Given the description of an element on the screen output the (x, y) to click on. 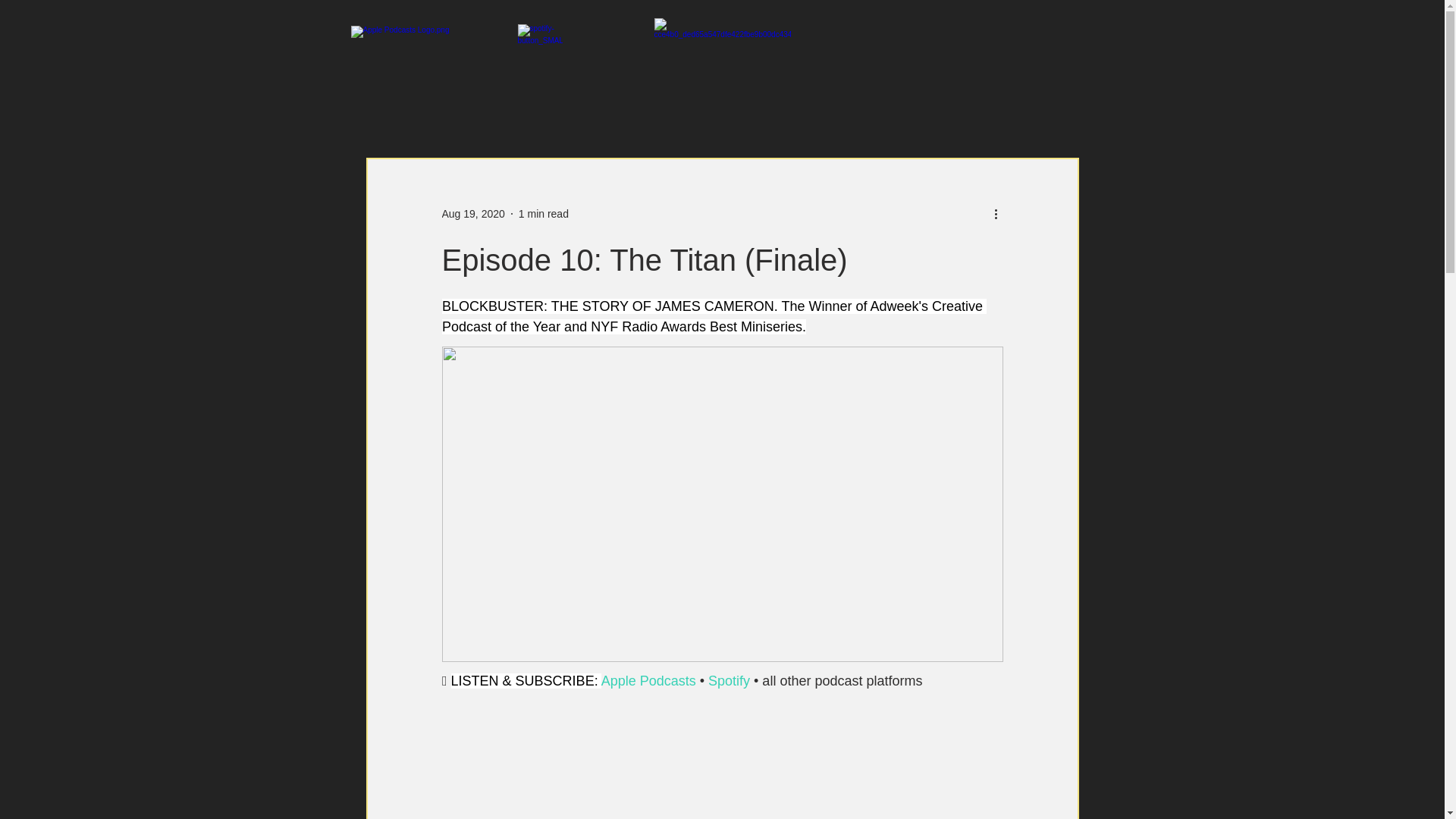
1 min read (543, 214)
Spotify (728, 680)
Aug 19, 2020 (472, 214)
Apple Podcasts (647, 680)
